Given the description of an element on the screen output the (x, y) to click on. 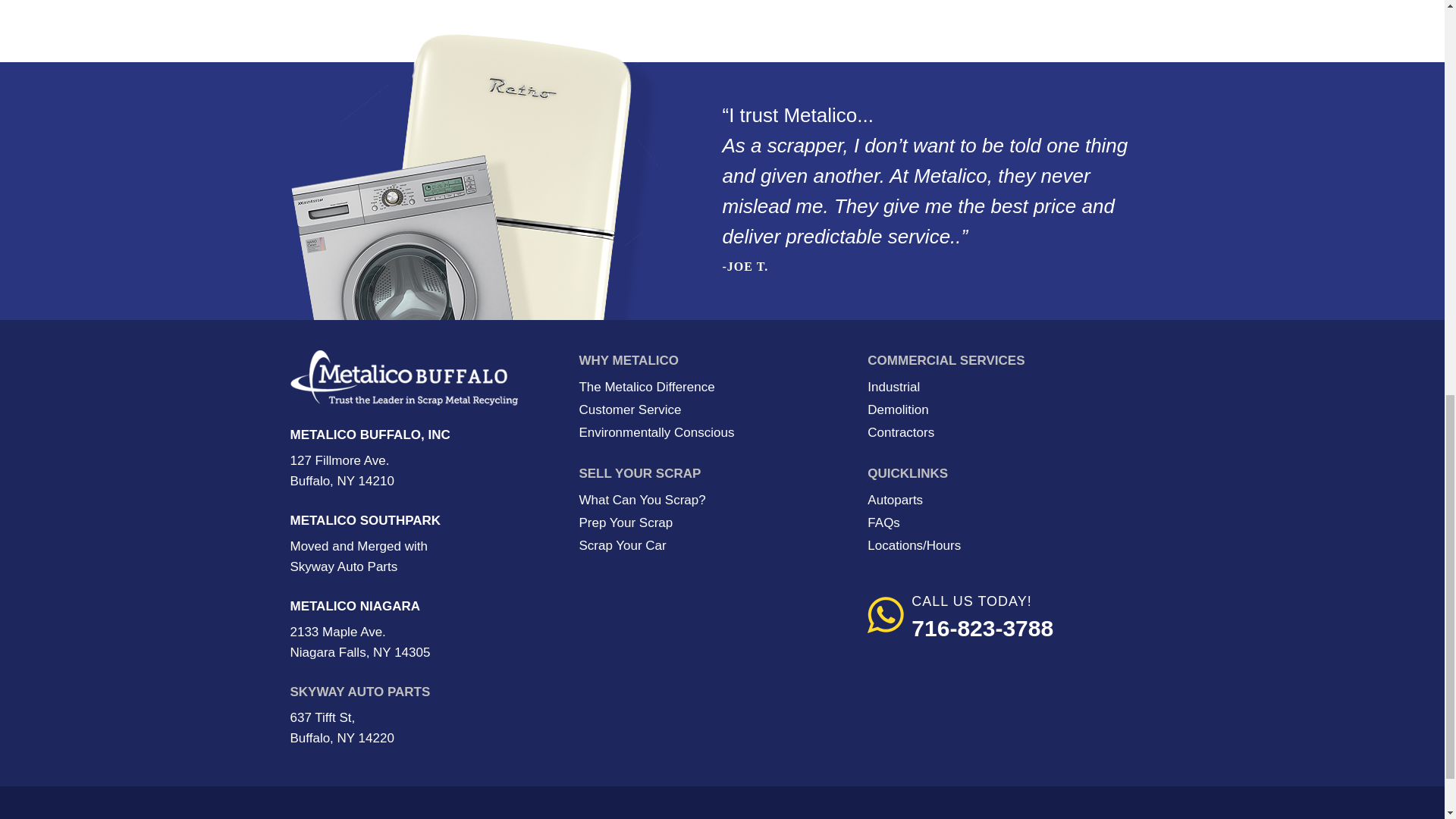
The Metalico Difference (646, 386)
What Can You Scrap? (641, 499)
Contractors (900, 432)
FAQs (883, 522)
Customer Service (629, 409)
METALICO BUFFALO, INC (369, 434)
Environmentally Conscious (655, 432)
Autoparts (895, 499)
Demolition (897, 409)
METALICO NIAGARA (354, 605)
Prep Your Scrap (625, 522)
Scrap Your Car (621, 545)
Industrial (893, 386)
METALICO SOUTHPARK (365, 520)
